Given the description of an element on the screen output the (x, y) to click on. 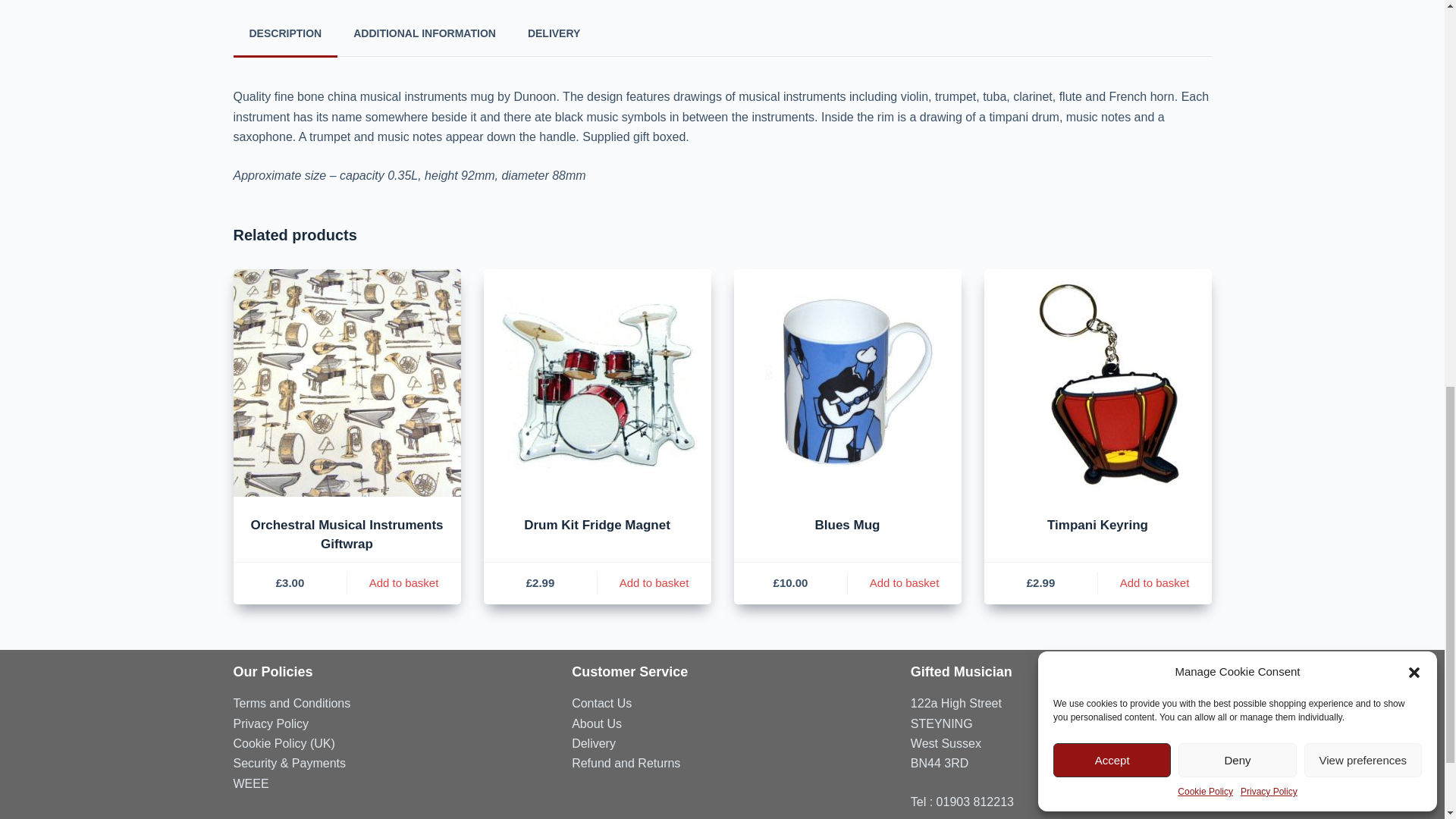
Drum Kit Fridge Magnet (597, 382)
Orchestral Instruments Giftwrap (346, 382)
Timpani PVC Keyring (1097, 382)
Blues Mug (846, 382)
